Given the description of an element on the screen output the (x, y) to click on. 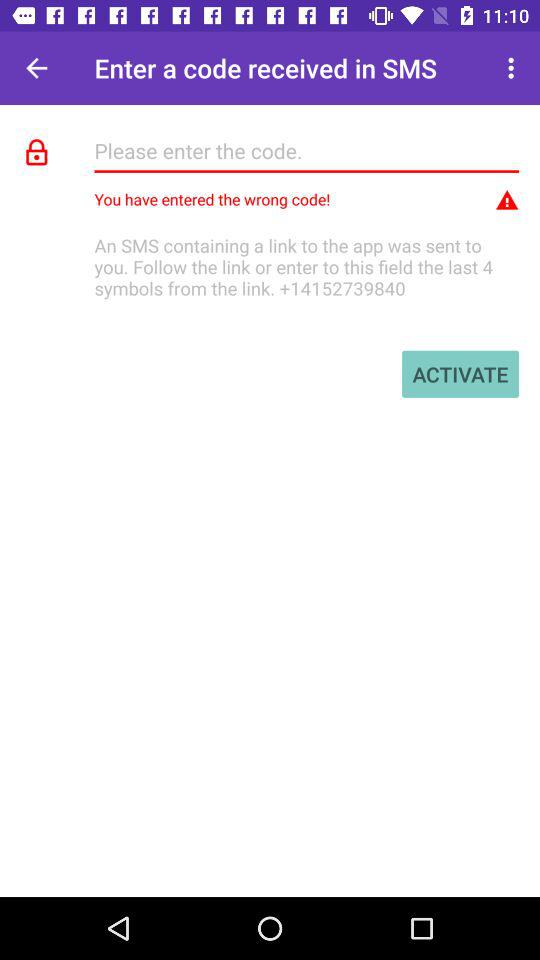
press the item next to the enter a code icon (513, 67)
